Given the description of an element on the screen output the (x, y) to click on. 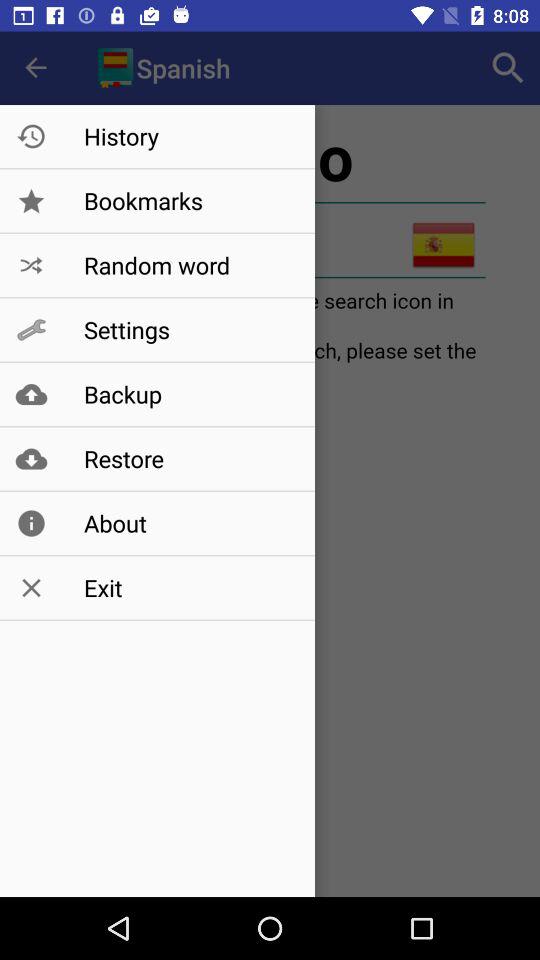
flip until settings icon (188, 329)
